Given the description of an element on the screen output the (x, y) to click on. 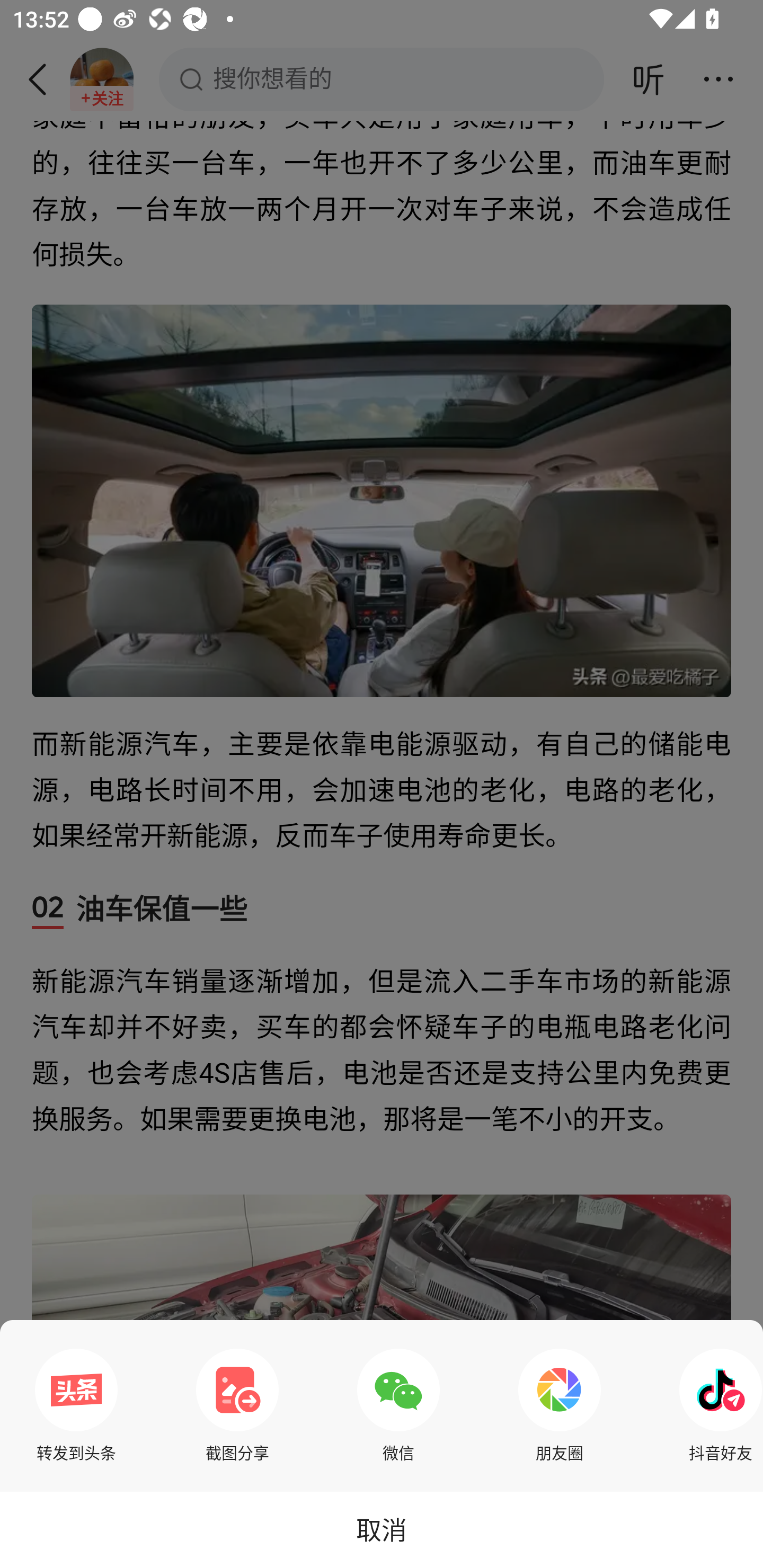
转发到头条 (76, 1405)
截图分享 (237, 1405)
微信 (398, 1405)
朋友圈 (559, 1405)
抖音好友 (716, 1405)
取消 (381, 1529)
